Given the description of an element on the screen output the (x, y) to click on. 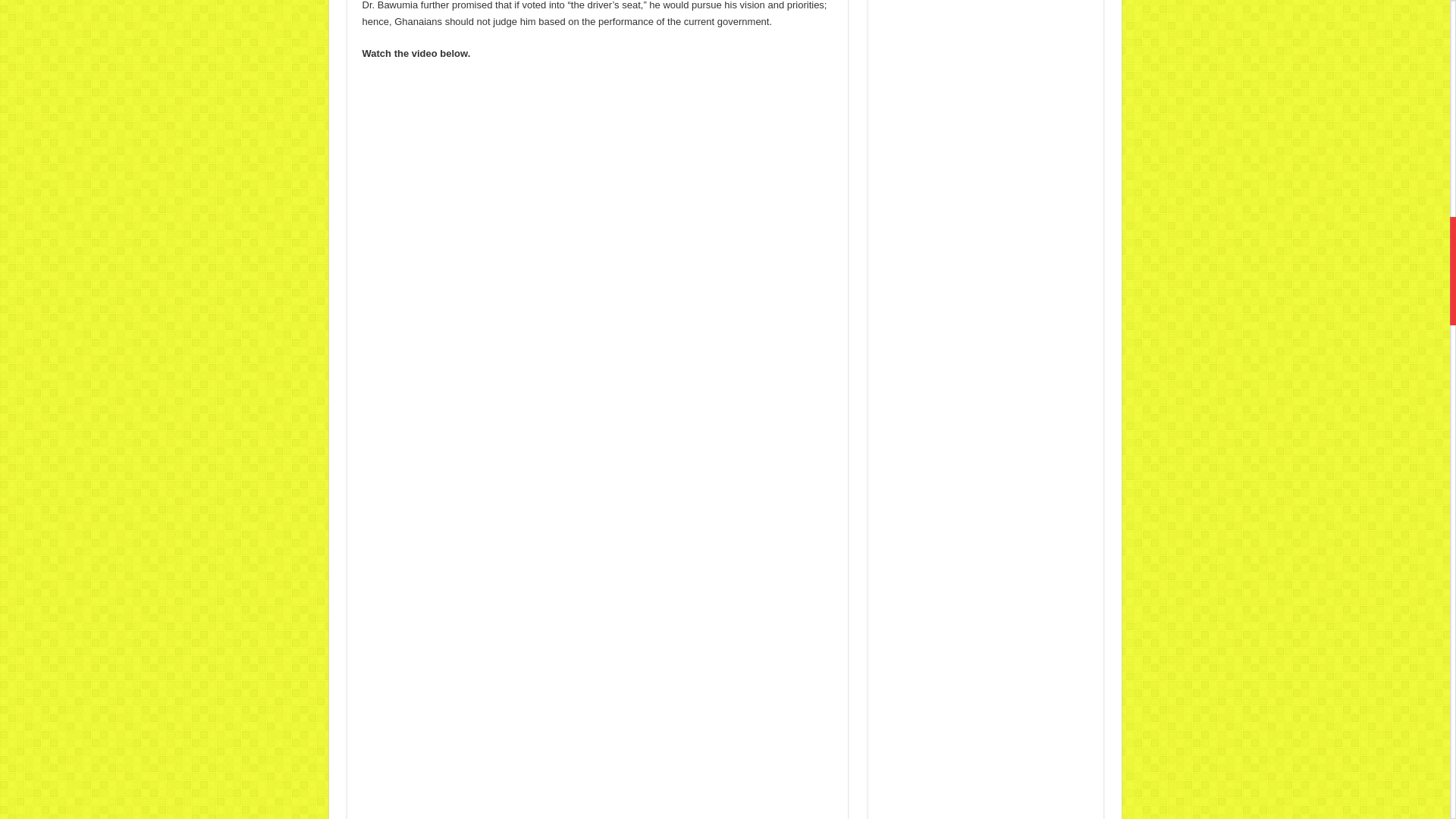
YouTube video player (597, 208)
